Given the description of an element on the screen output the (x, y) to click on. 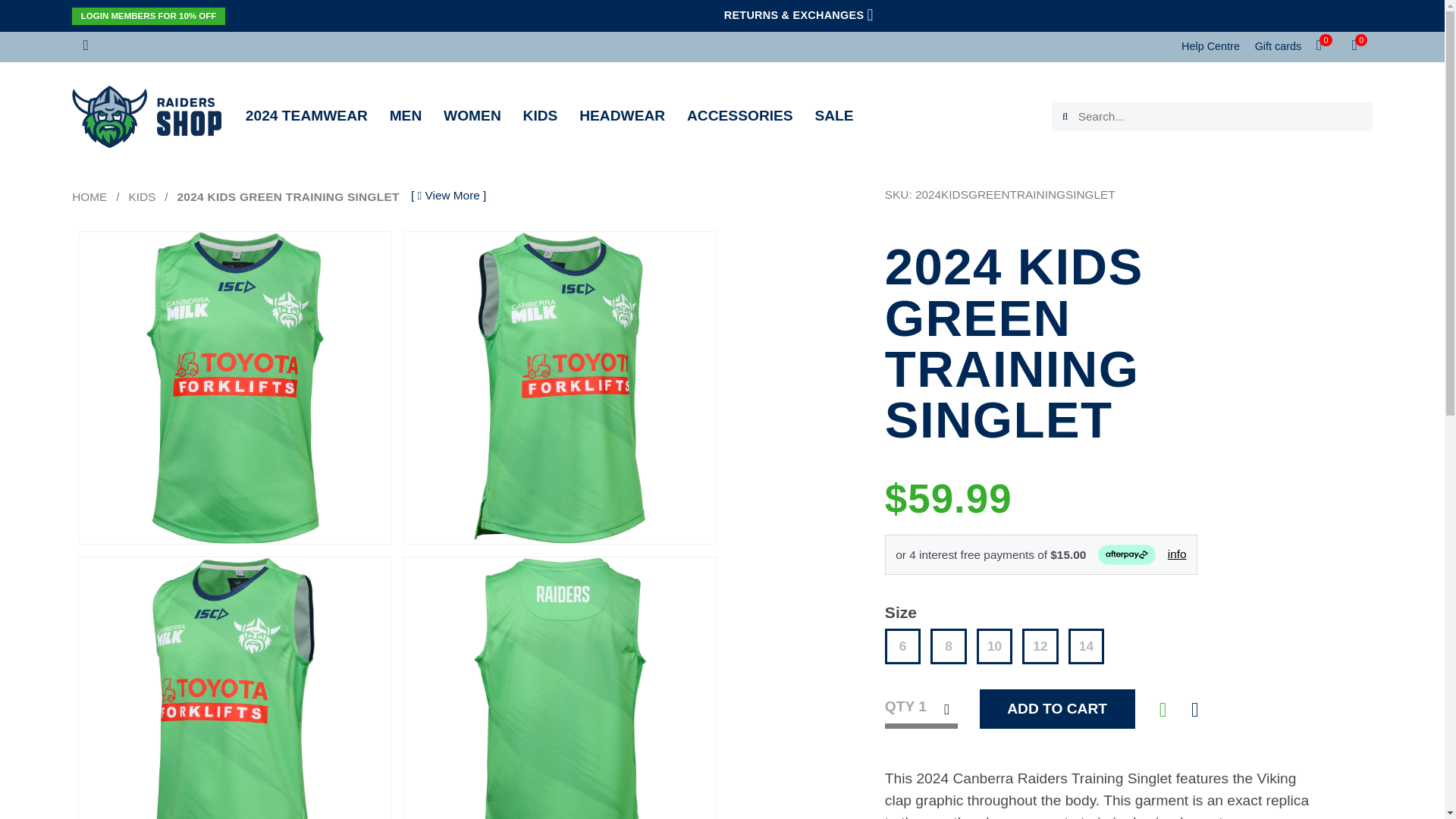
WOMEN (472, 115)
ACCESSORIES (740, 115)
2024 TEAMWEAR (307, 115)
Help Centre (1210, 46)
Search (1064, 116)
SALE (833, 115)
HEADWEAR (622, 115)
MEN (406, 115)
0 (1326, 46)
Gift cards (1278, 46)
KIDS (539, 115)
